Given the description of an element on the screen output the (x, y) to click on. 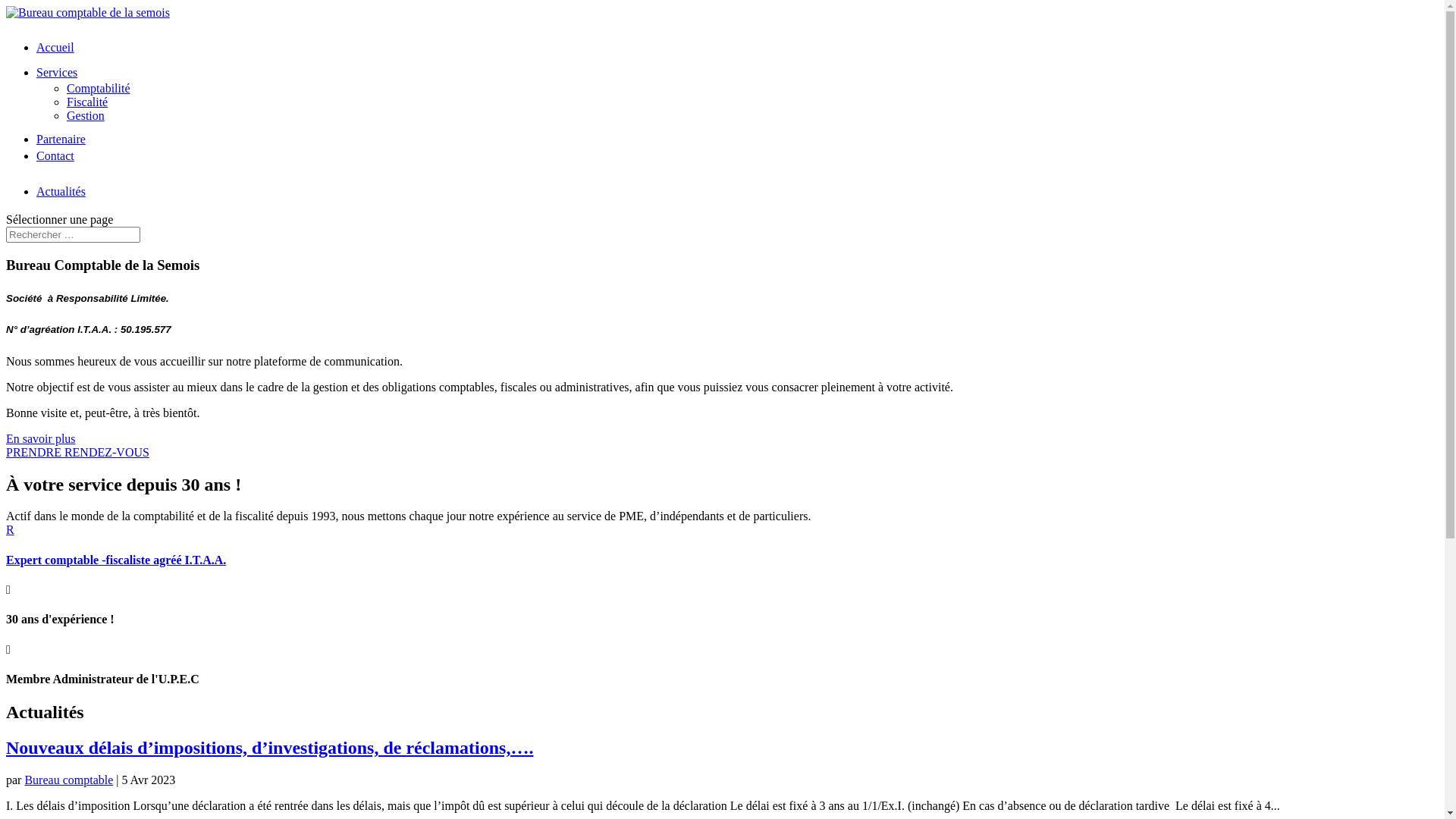
R Element type: text (10, 529)
PRENDRE RENDEZ-VOUS Element type: text (77, 451)
En savoir plus Element type: text (40, 438)
Accueil Element type: text (55, 46)
Bureau comptable Element type: text (68, 779)
Gestion Element type: text (85, 115)
Rechercher: Element type: hover (73, 234)
Services Element type: text (56, 71)
Partenaire Element type: text (60, 138)
Contact Element type: text (55, 155)
